Given the description of an element on the screen output the (x, y) to click on. 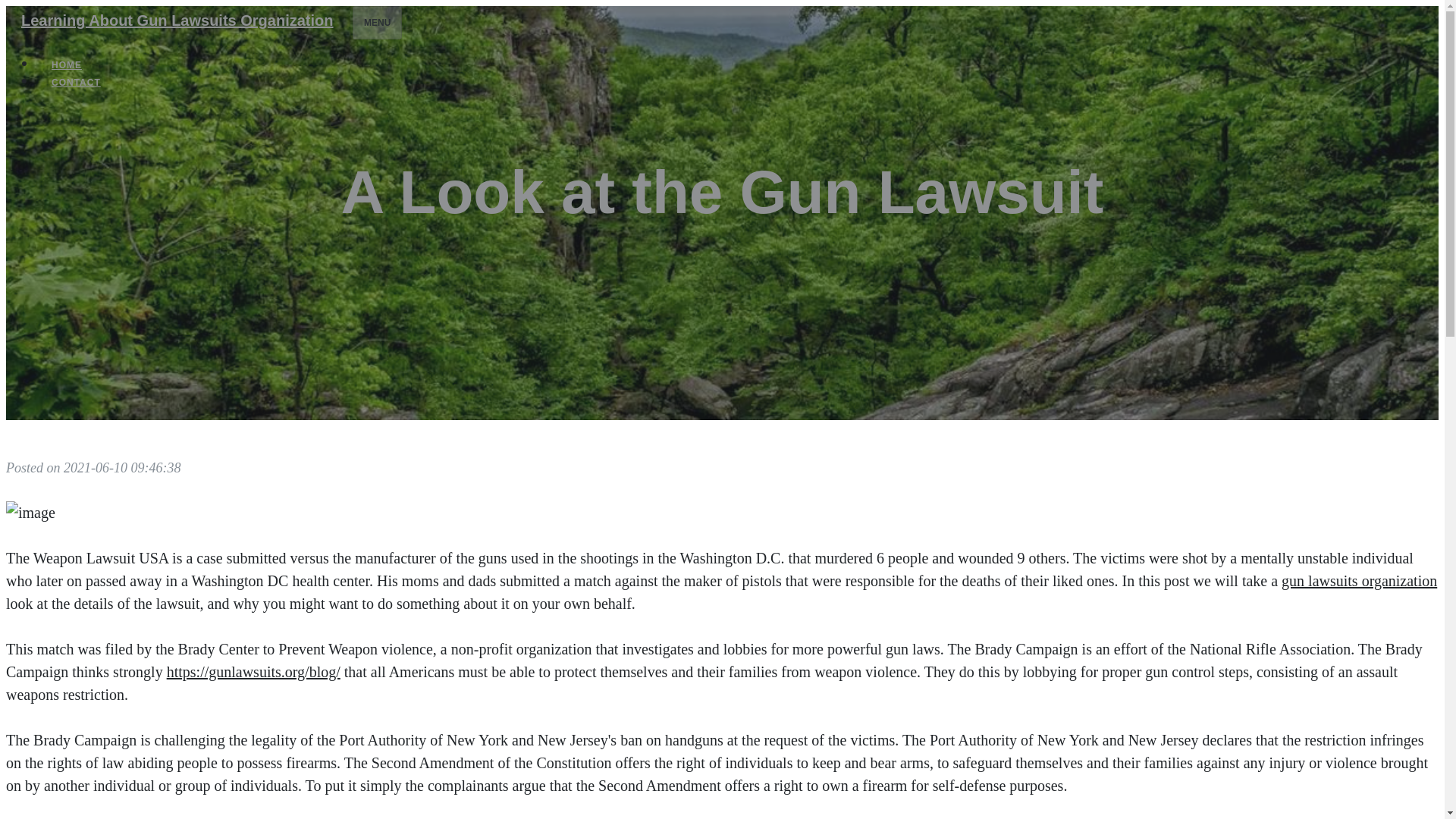
HOME (66, 64)
CONTACT (76, 82)
MENU (376, 22)
Learning About Gun Lawsuits Organization (176, 20)
